Given the description of an element on the screen output the (x, y) to click on. 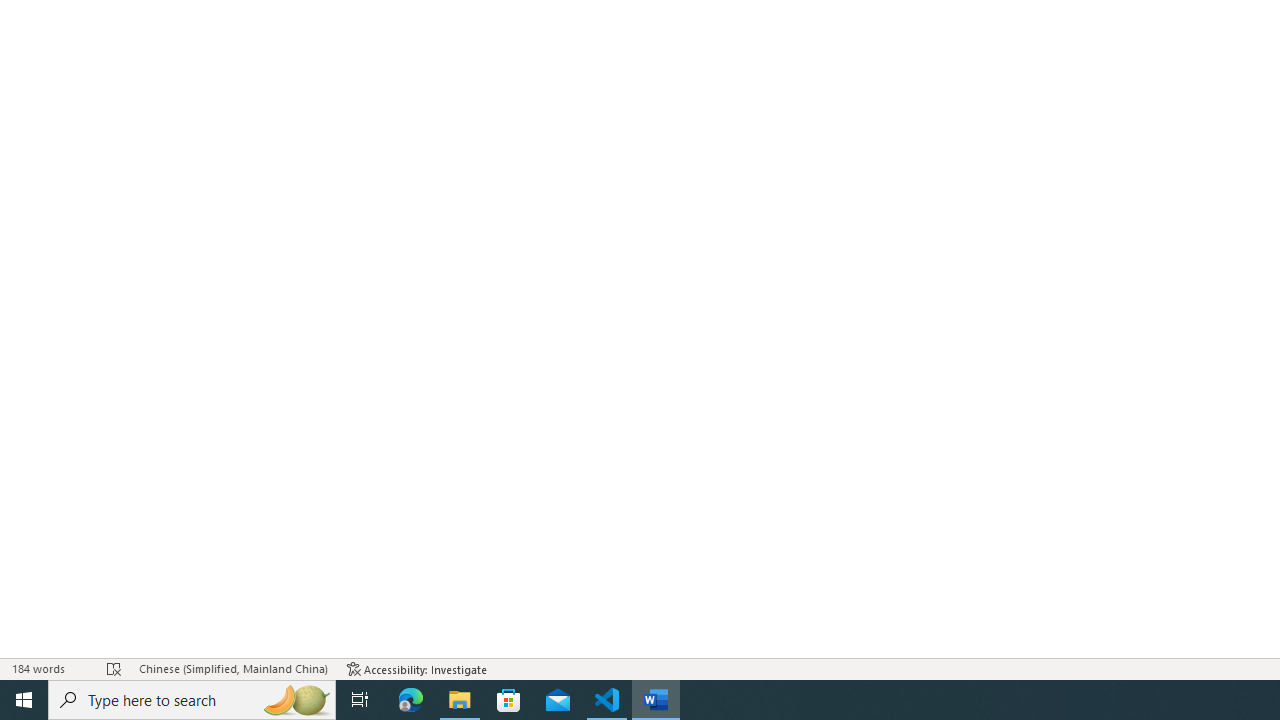
Word Count 184 words (49, 668)
Word - 1 running window (656, 699)
